Given the description of an element on the screen output the (x, y) to click on. 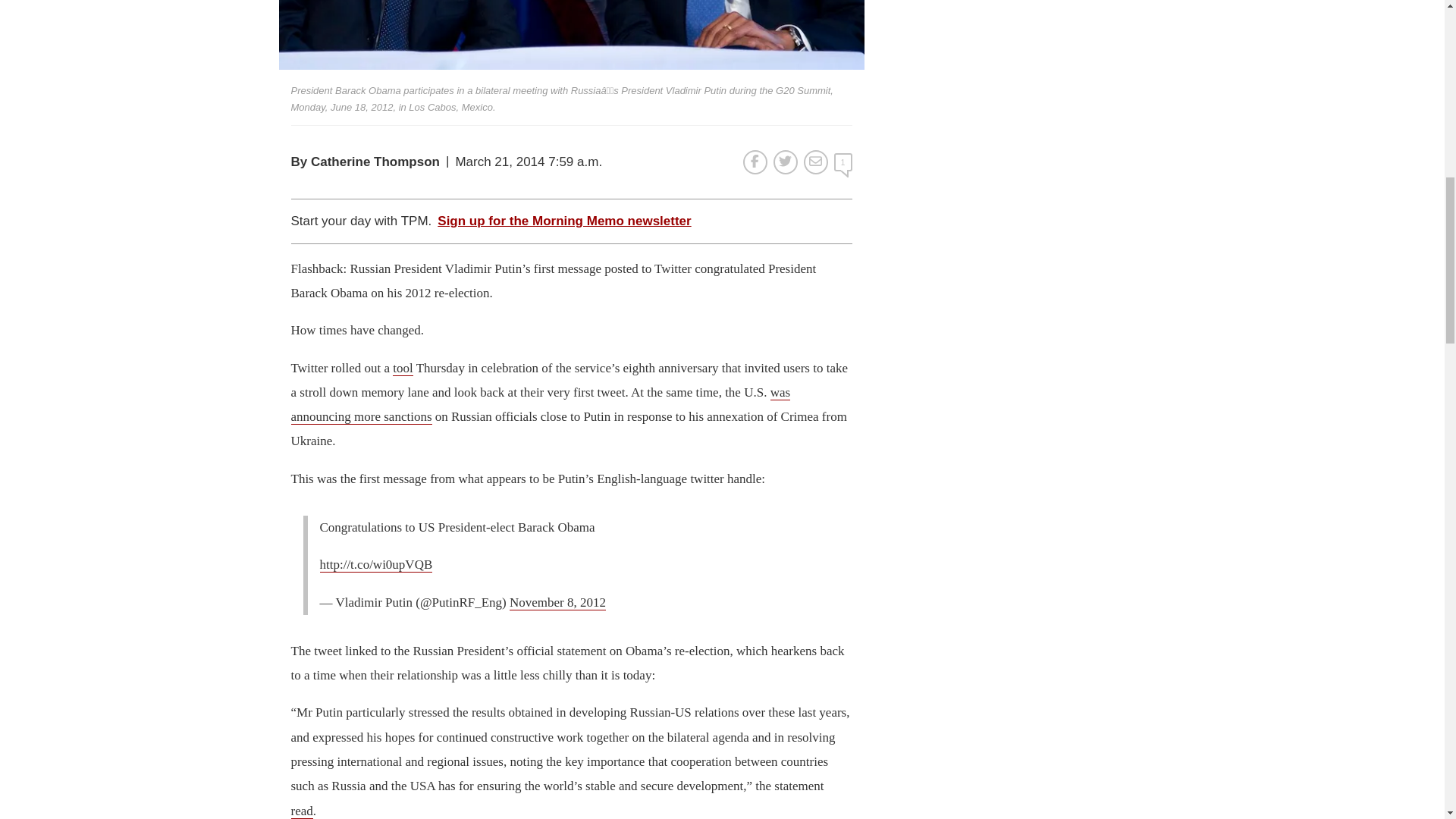
tool (402, 368)
1 (842, 162)
Sign up for the Morning Memo newsletter (564, 220)
was announcing more sanctions (540, 404)
